Given the description of an element on the screen output the (x, y) to click on. 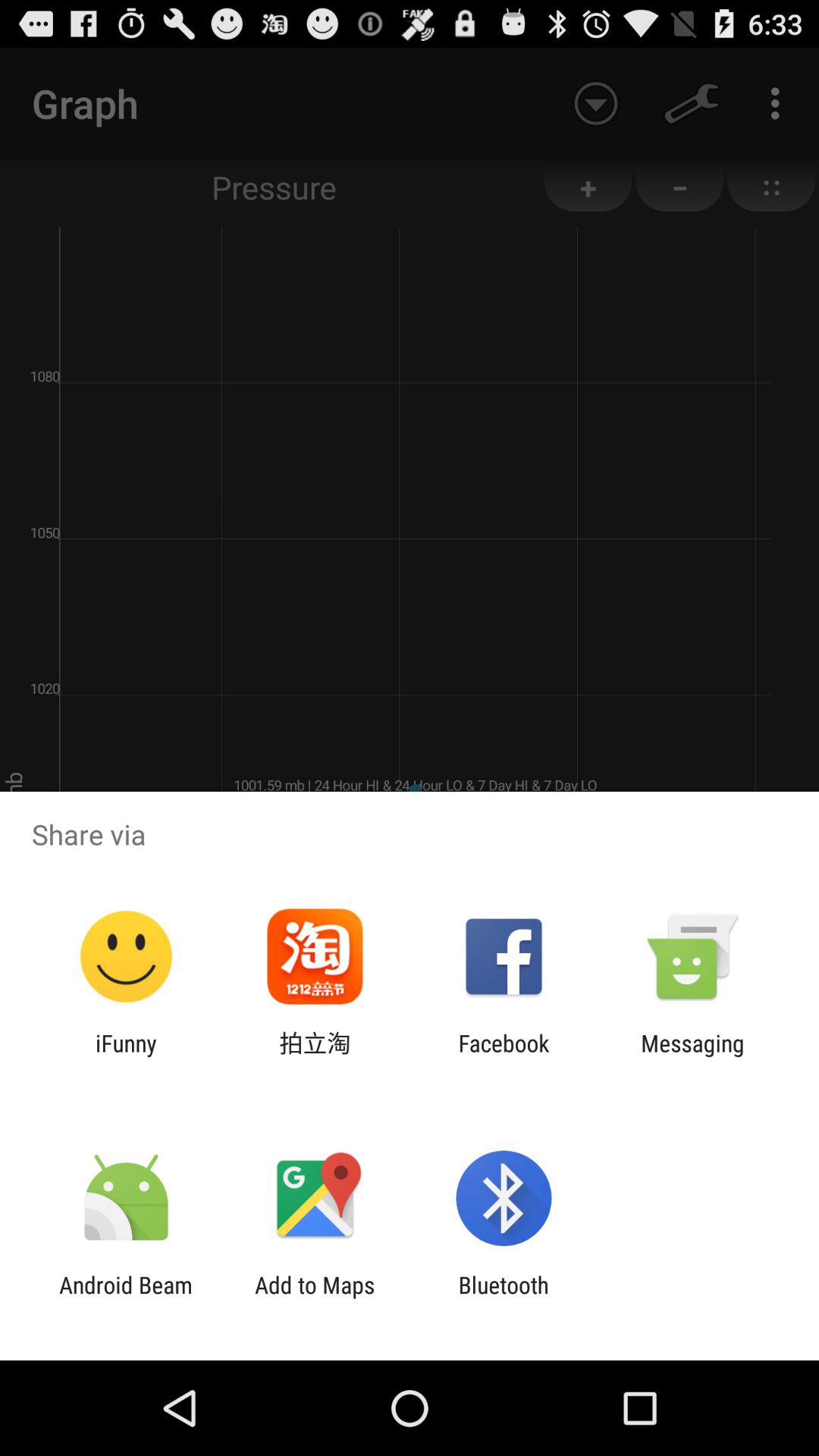
turn off messaging icon (692, 1056)
